Given the description of an element on the screen output the (x, y) to click on. 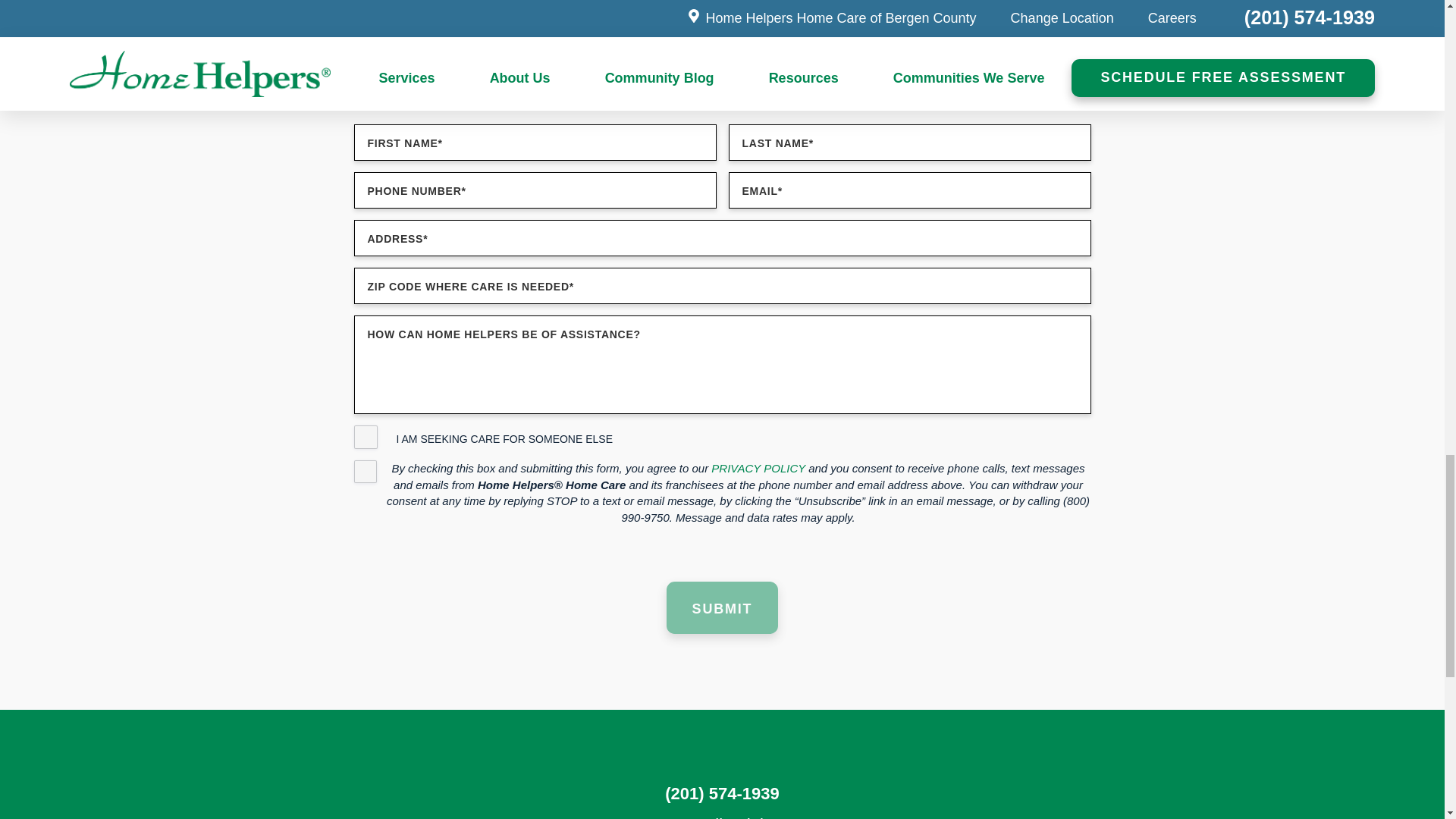
1 (364, 471)
Yes (365, 436)
Submit (721, 607)
